Given the description of an element on the screen output the (x, y) to click on. 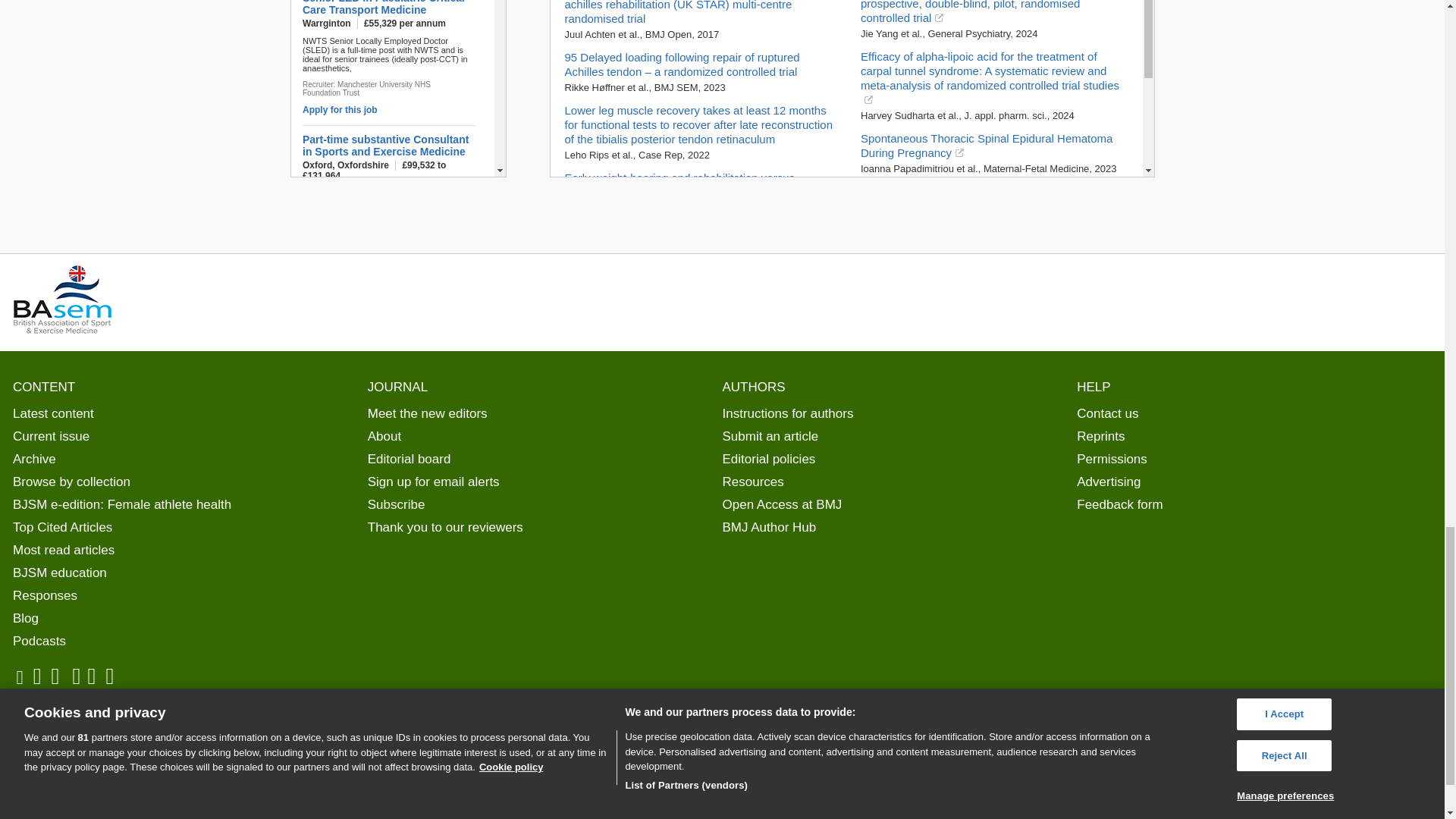
careers widget (397, 88)
